Given the description of an element on the screen output the (x, y) to click on. 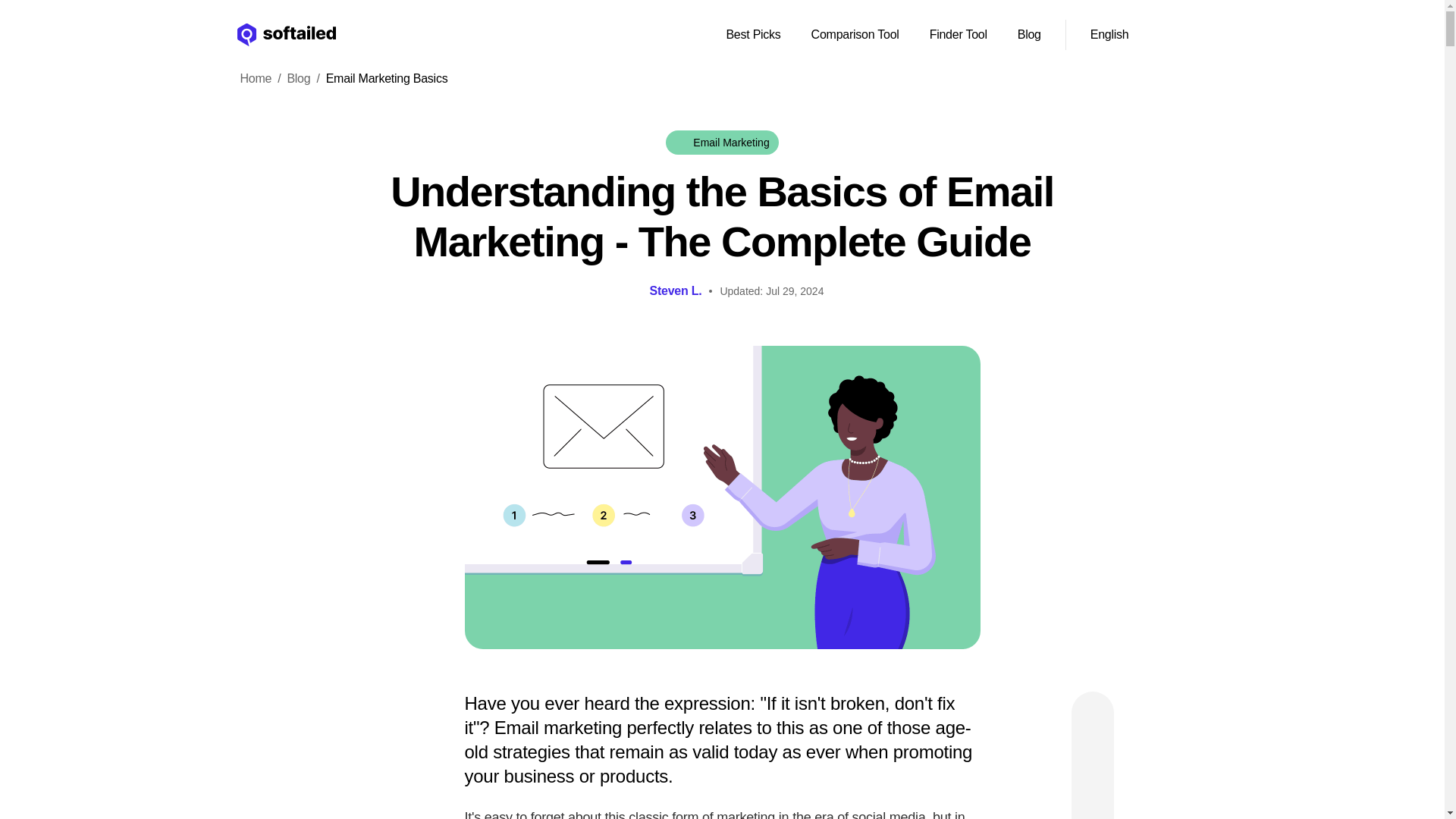
Best Picks (752, 34)
Email Marketing (721, 142)
Blog (1029, 34)
English (1128, 34)
Blog (298, 78)
Steven L. (675, 290)
Home (245, 78)
Finder Tool (957, 34)
Comparison Tool (855, 34)
